Given the description of an element on the screen output the (x, y) to click on. 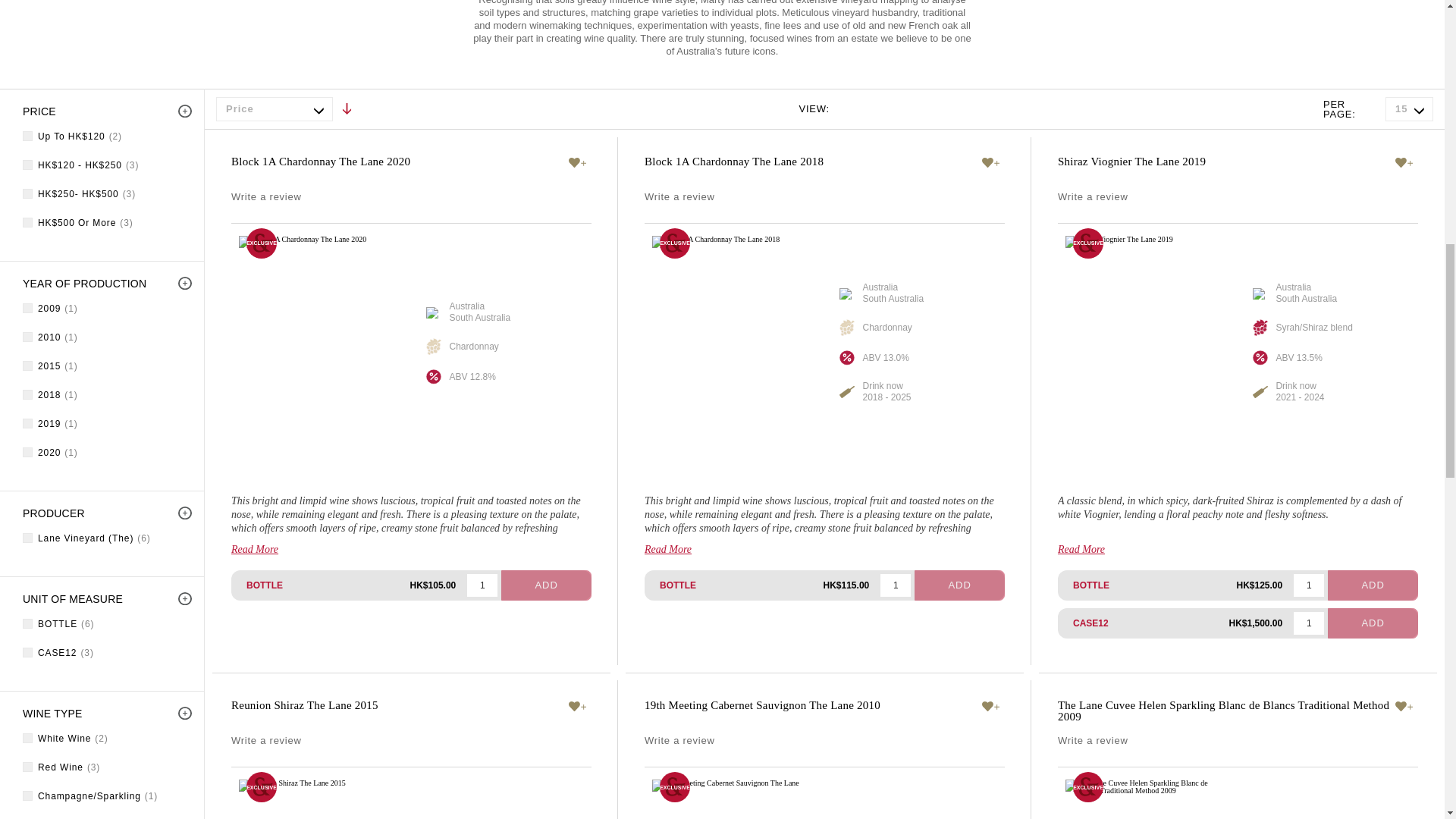
Add (959, 585)
1 (1308, 585)
Quantity (895, 585)
Quantity (1308, 585)
Quantity (1308, 622)
1 (482, 585)
Grid (851, 108)
Add (545, 585)
Add (1372, 585)
List (881, 108)
